Given the description of an element on the screen output the (x, y) to click on. 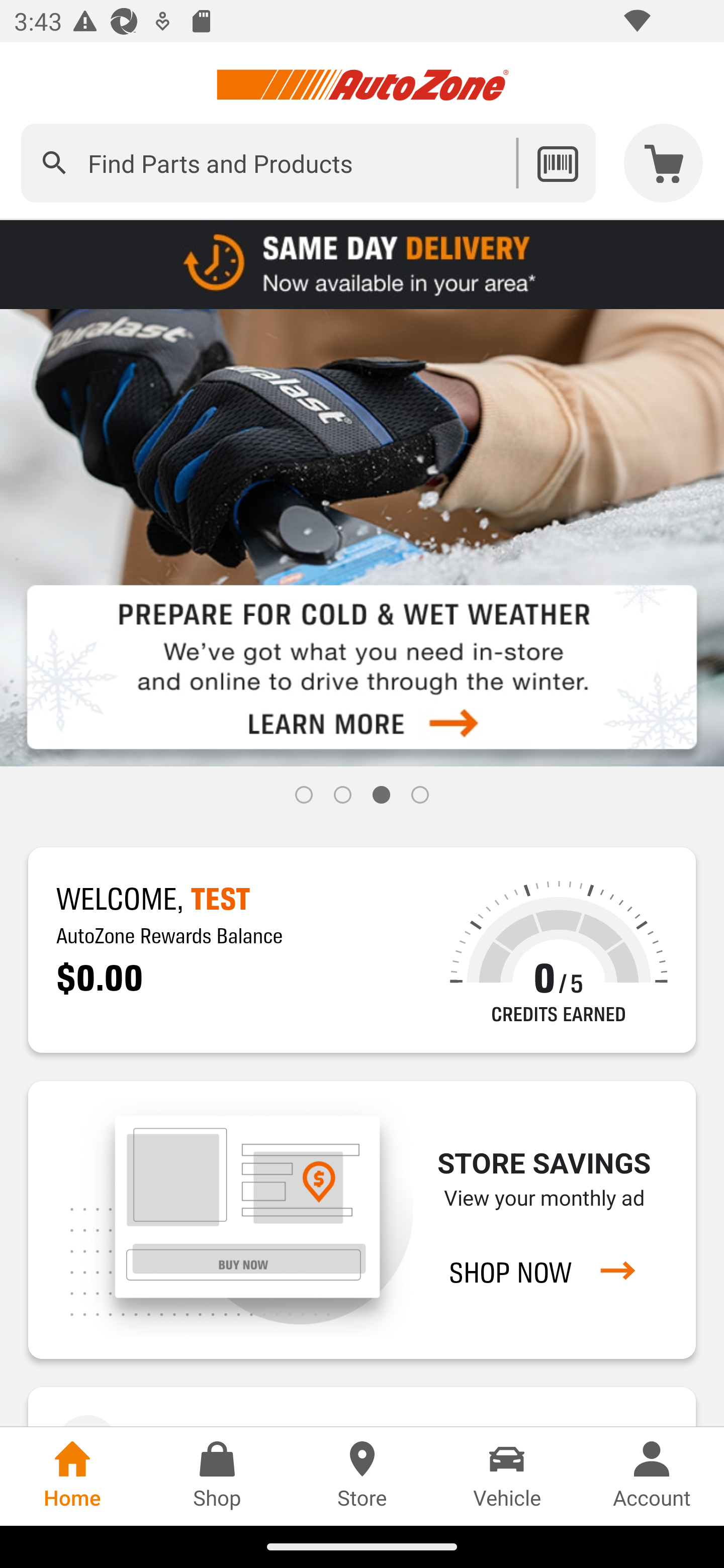
 scan-product-to-search  (557, 162)
 (54, 163)
Cart, no items  (663, 162)
Same Day Delivery - now available in your area* (362, 262)
Home (72, 1475)
Shop (216, 1475)
Store (361, 1475)
Vehicle (506, 1475)
Account (651, 1475)
